Given the description of an element on the screen output the (x, y) to click on. 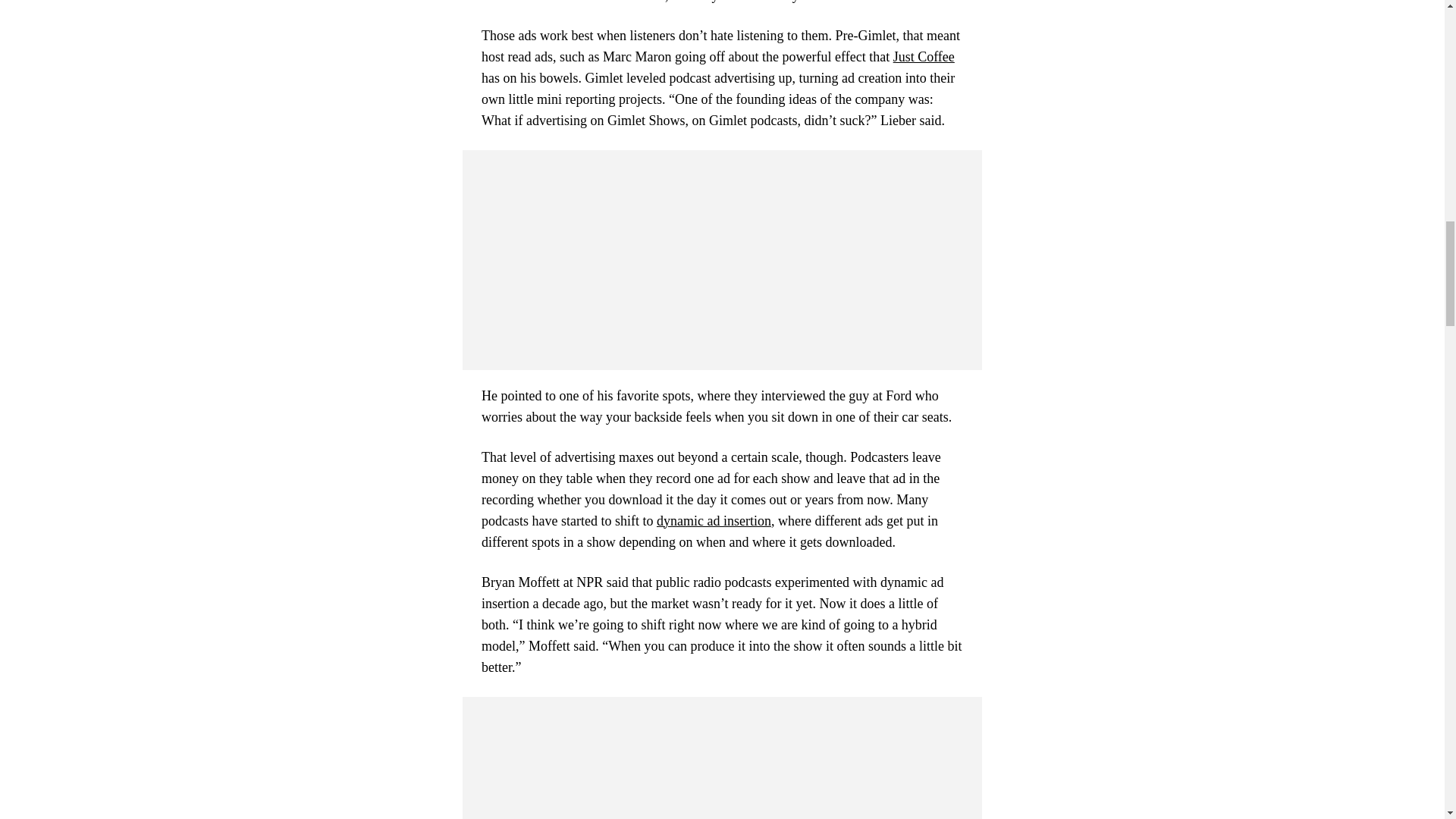
dynamic ad insertion (713, 520)
Just Coffee (924, 56)
